Given the description of an element on the screen output the (x, y) to click on. 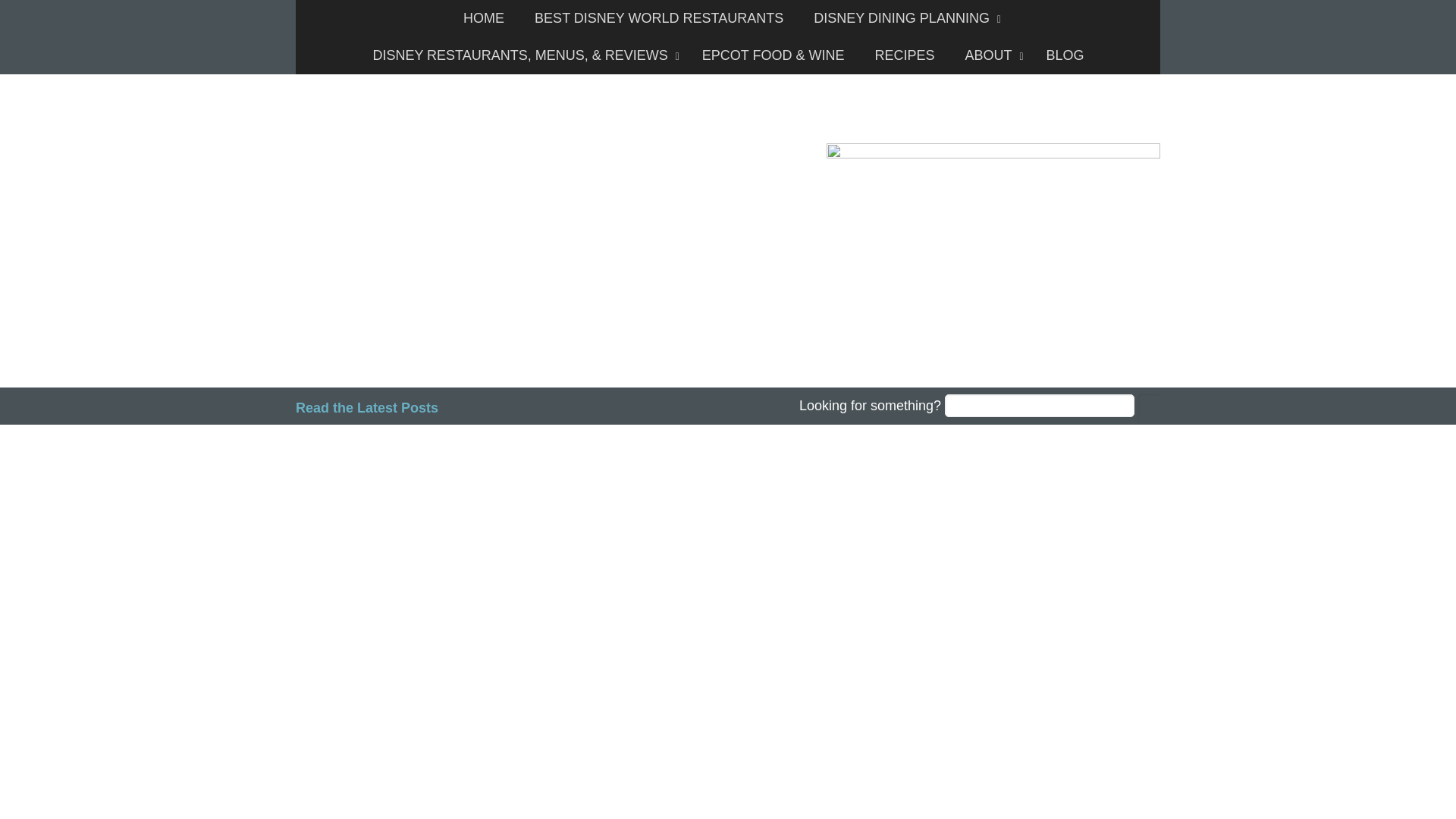
BEST DISNEY WORLD RESTAURANTS (658, 18)
HOME (483, 18)
DISNEY DINING PLANNING (903, 18)
